Given the description of an element on the screen output the (x, y) to click on. 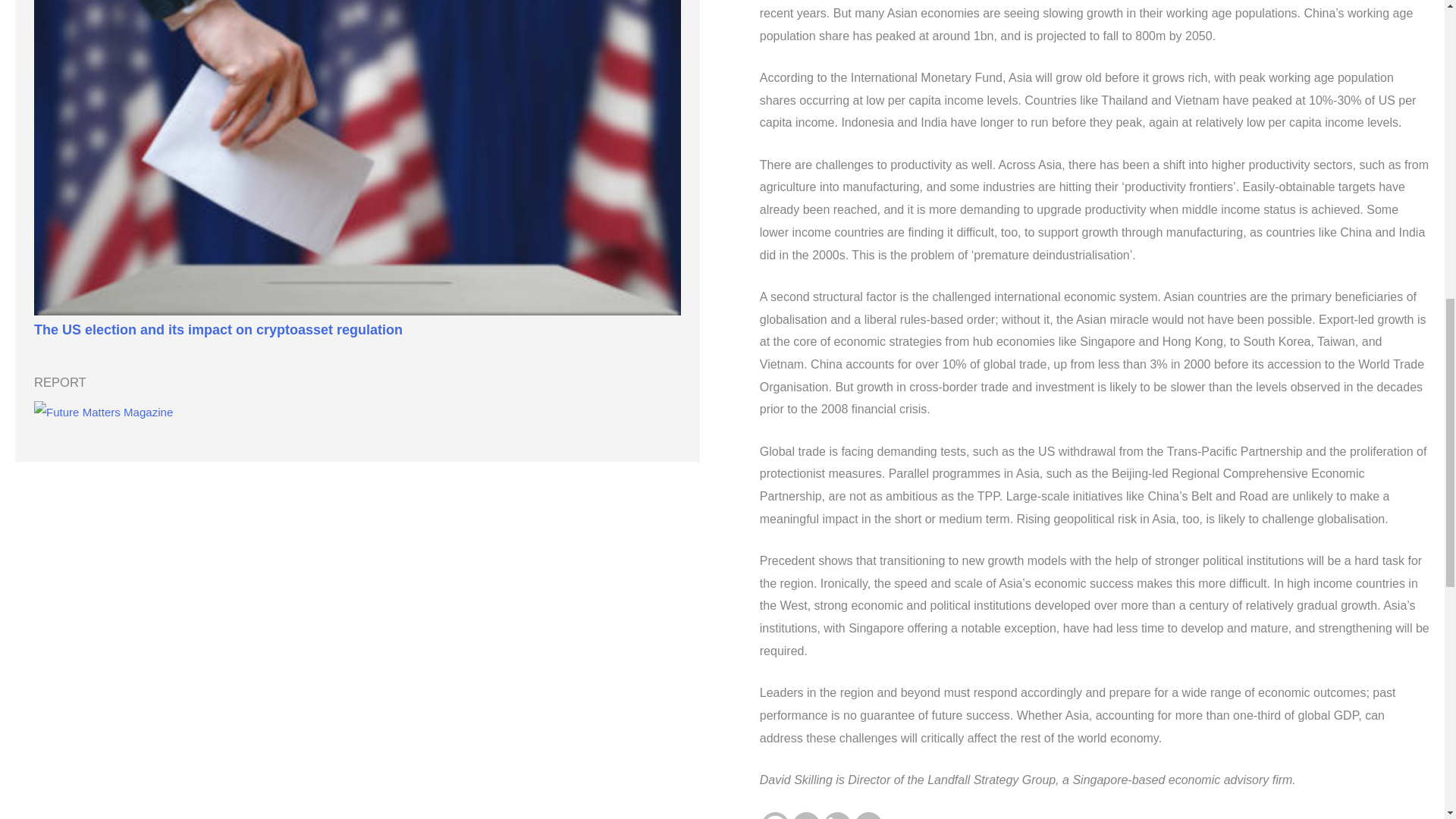
Linkedin (837, 815)
Facebook (775, 815)
Twitter (806, 815)
Email (868, 815)
